Given the description of an element on the screen output the (x, y) to click on. 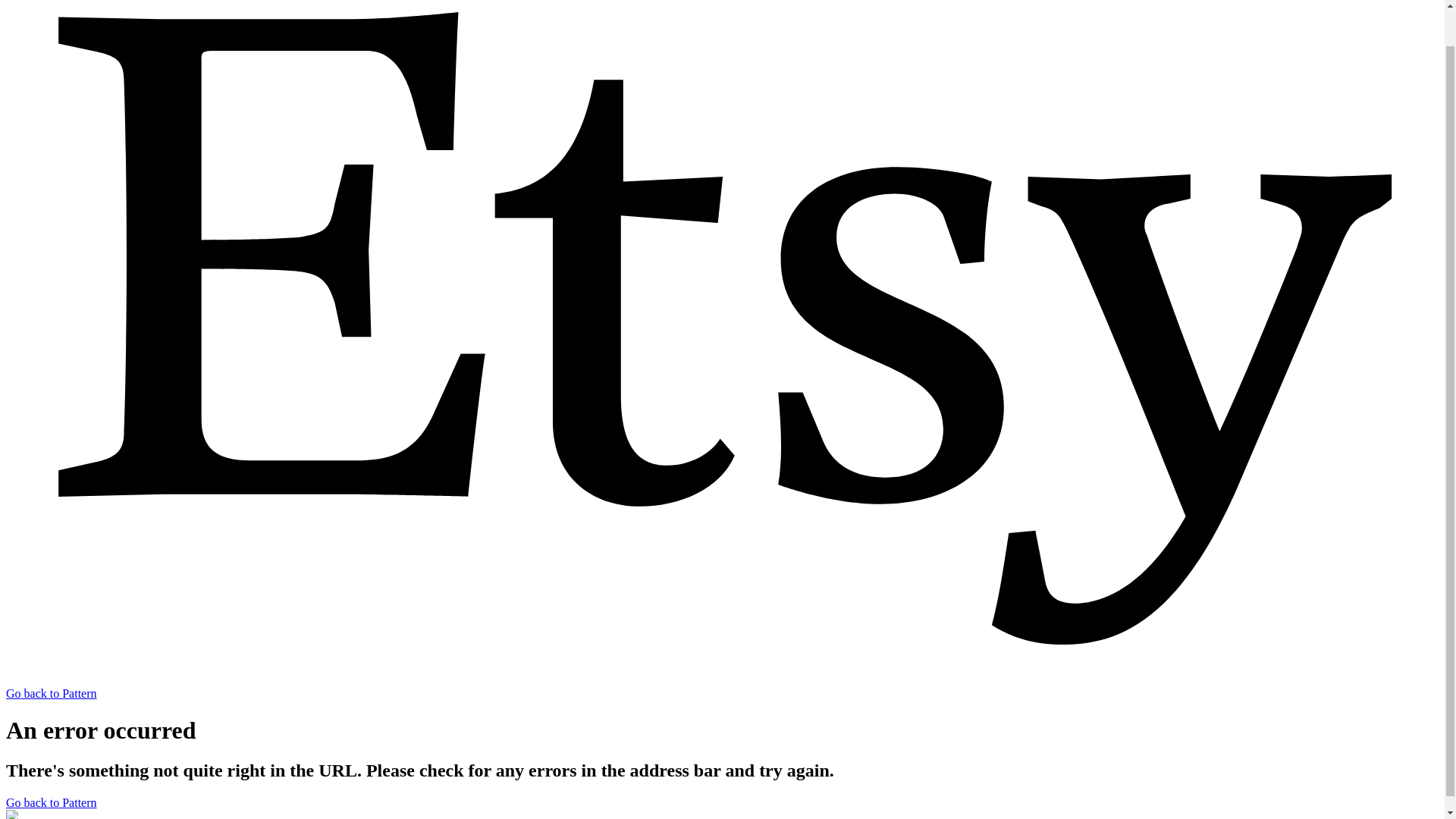
Go back to Pattern (51, 802)
